Given the description of an element on the screen output the (x, y) to click on. 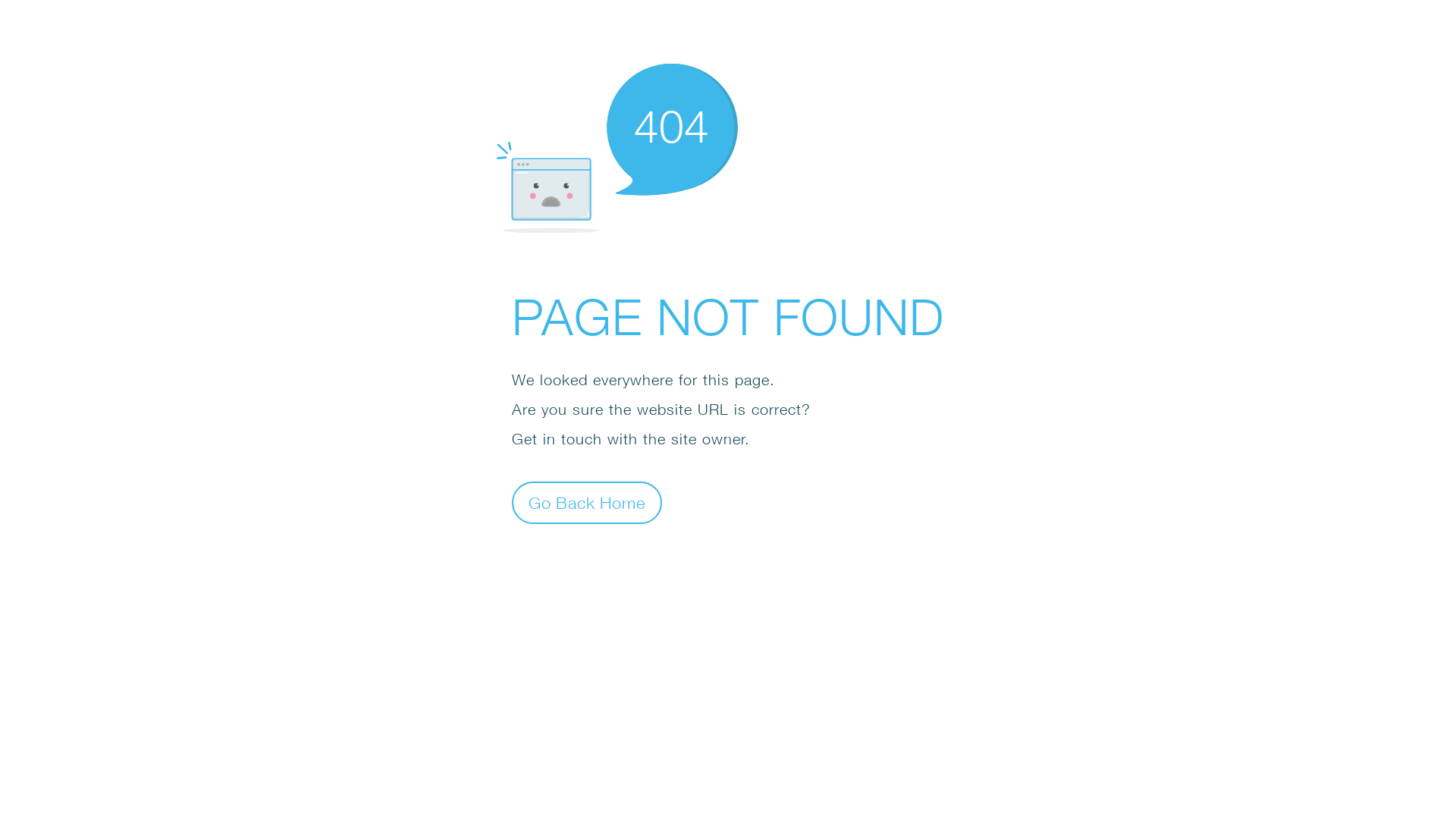
Go Back Home Element type: text (586, 502)
